Given the description of an element on the screen output the (x, y) to click on. 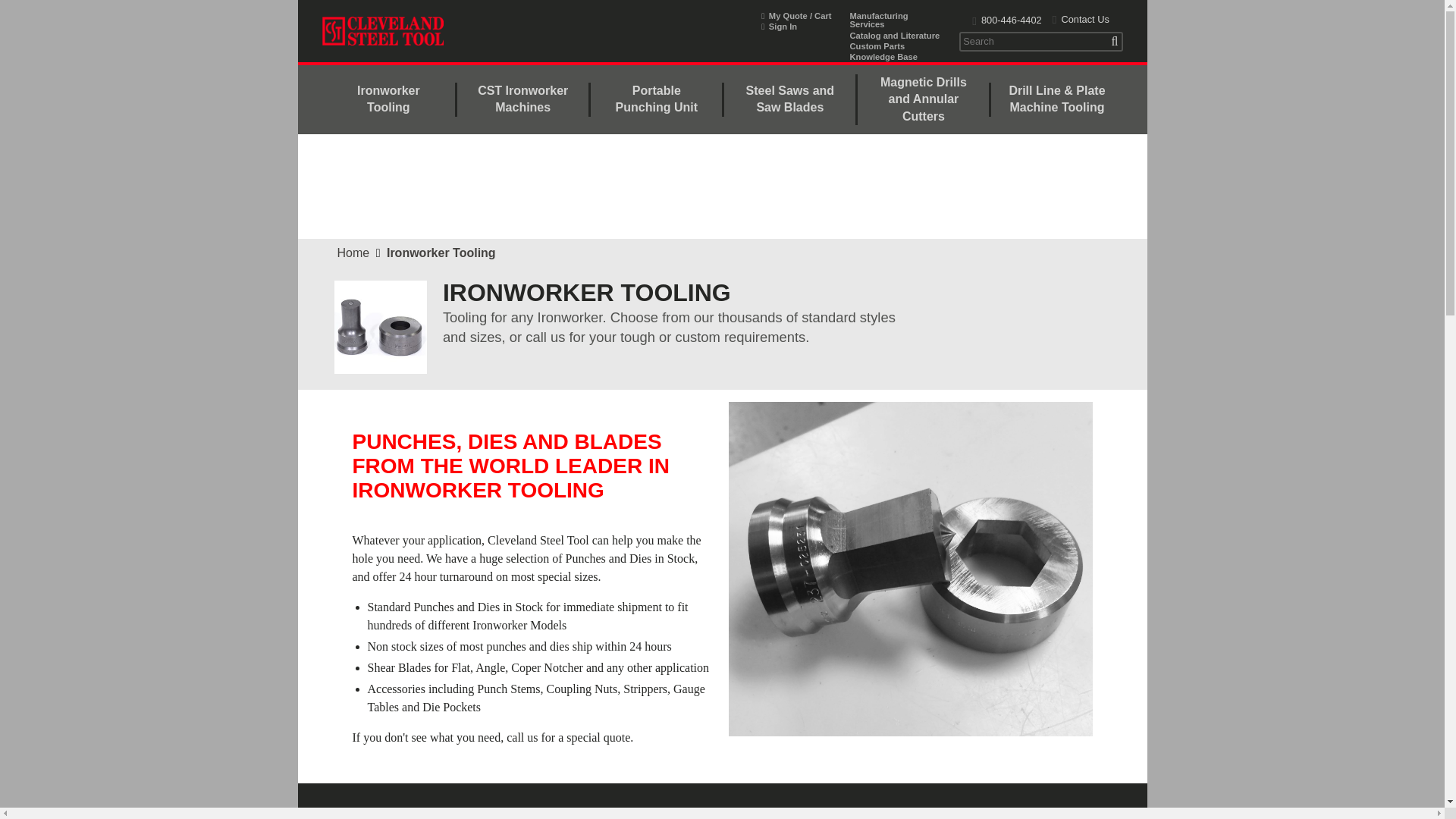
Manufacturing Services (894, 20)
Contact Us (1080, 19)
Knowledge Base (894, 57)
Steel Saws and Saw Blades (789, 99)
Ironworker Tooling (387, 99)
Portable Punching Unit (656, 99)
CST Ironworker Machines (522, 99)
Catalog and Literature (894, 35)
Sign In (796, 26)
Home (352, 252)
800-446-4402 (1010, 20)
Custom Parts (894, 46)
Magnetic Drills and Annular Cutters (922, 99)
